Given the description of an element on the screen output the (x, y) to click on. 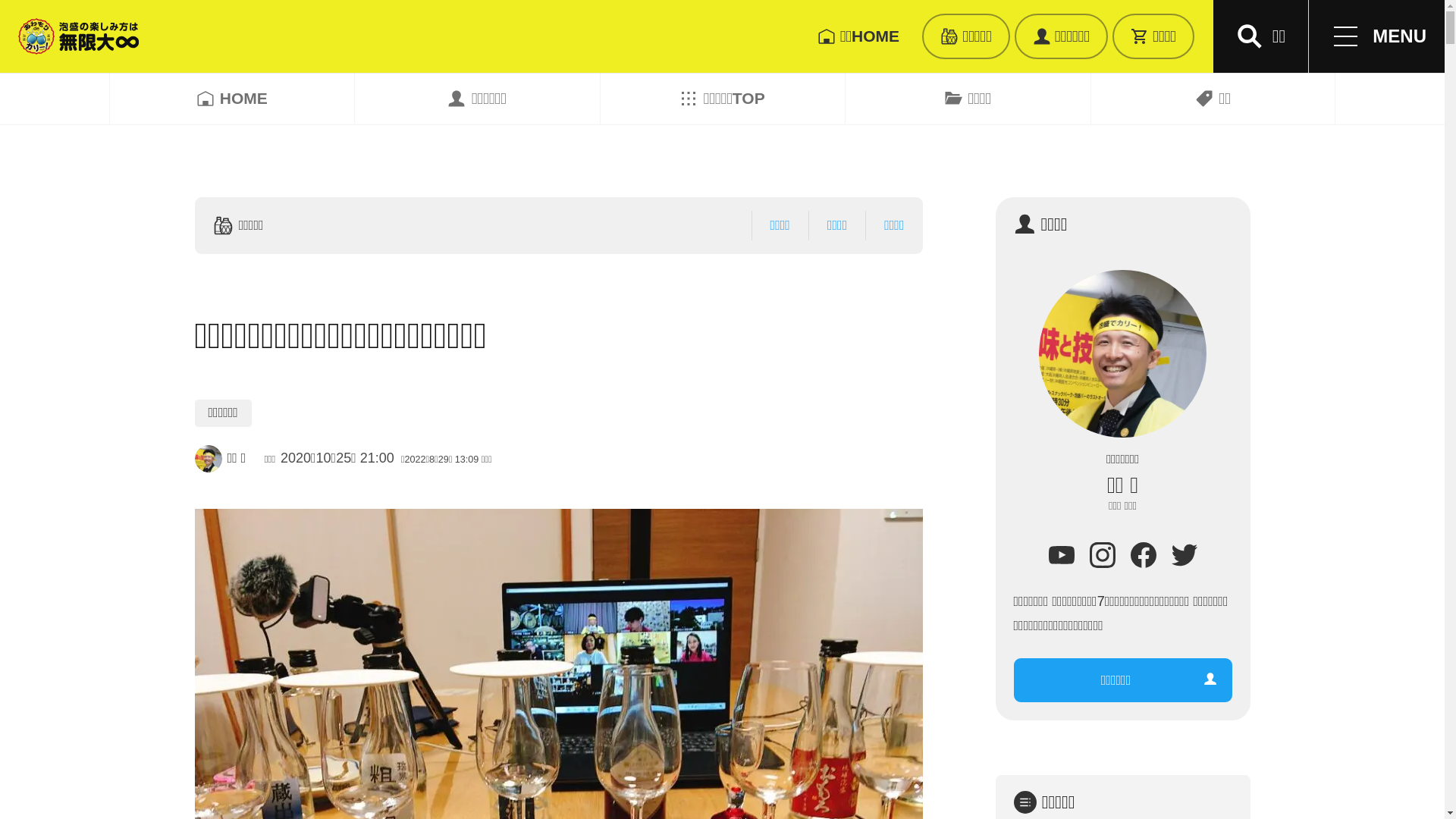
MENU Element type: text (1376, 36)
HOME Element type: text (231, 98)
